Given the description of an element on the screen output the (x, y) to click on. 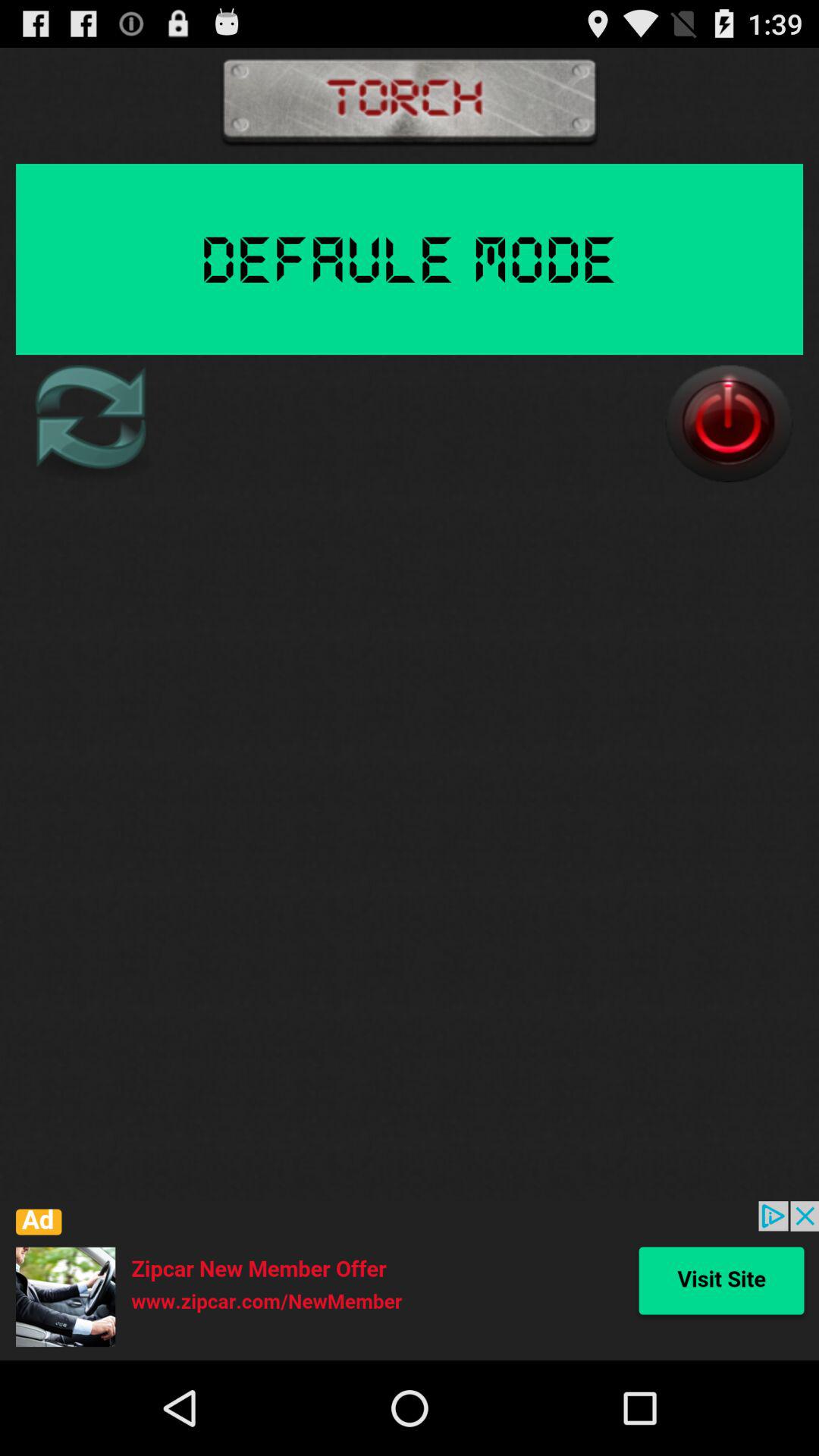
refresh page (89, 423)
